Given the description of an element on the screen output the (x, y) to click on. 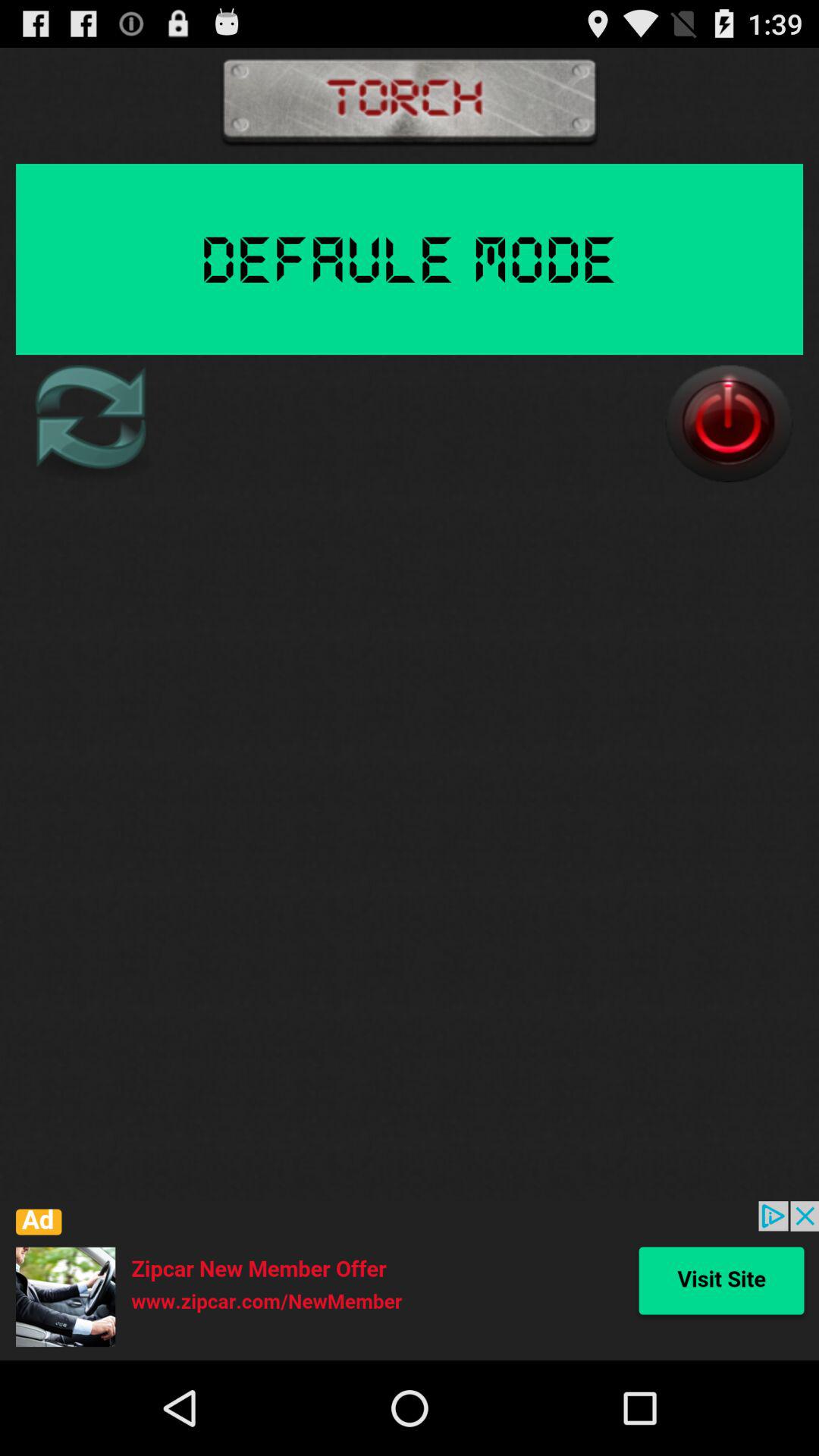
refresh page (89, 423)
